Given the description of an element on the screen output the (x, y) to click on. 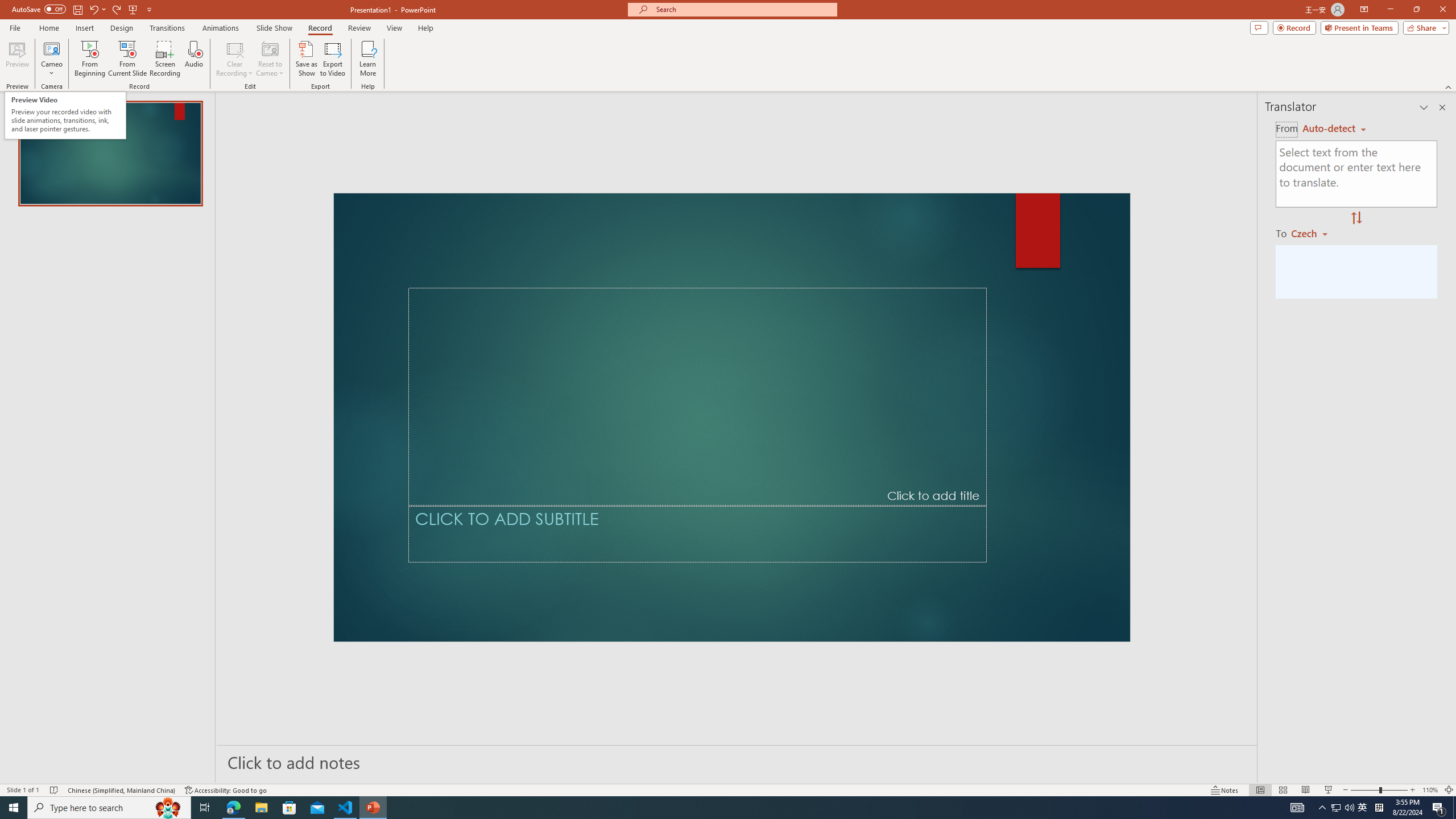
Swap "from" and "to" languages. (1355, 218)
Save as Show (306, 58)
Screen Recording (165, 58)
